Given the description of an element on the screen output the (x, y) to click on. 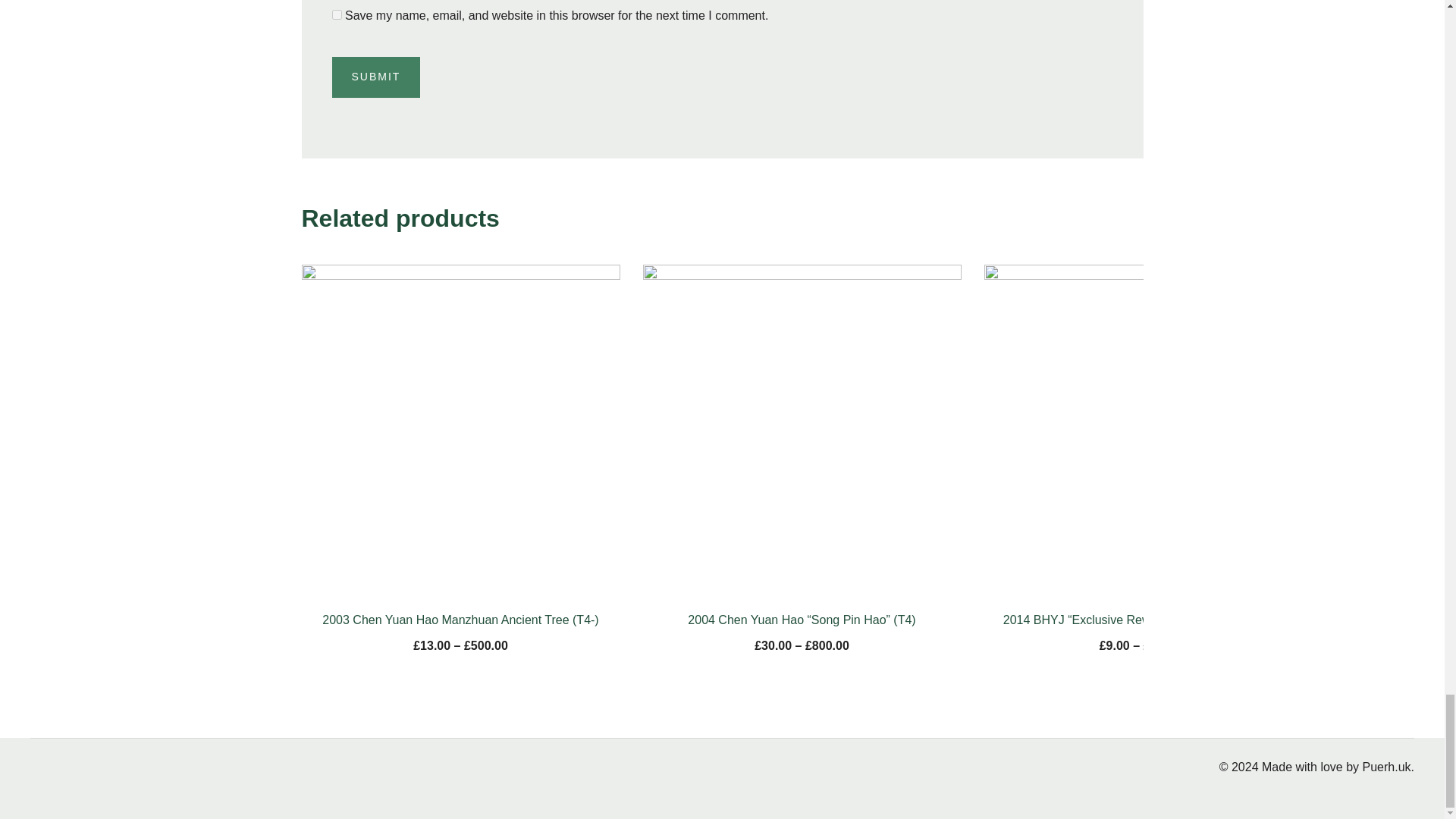
yes (336, 14)
Submit (375, 76)
